Given the description of an element on the screen output the (x, y) to click on. 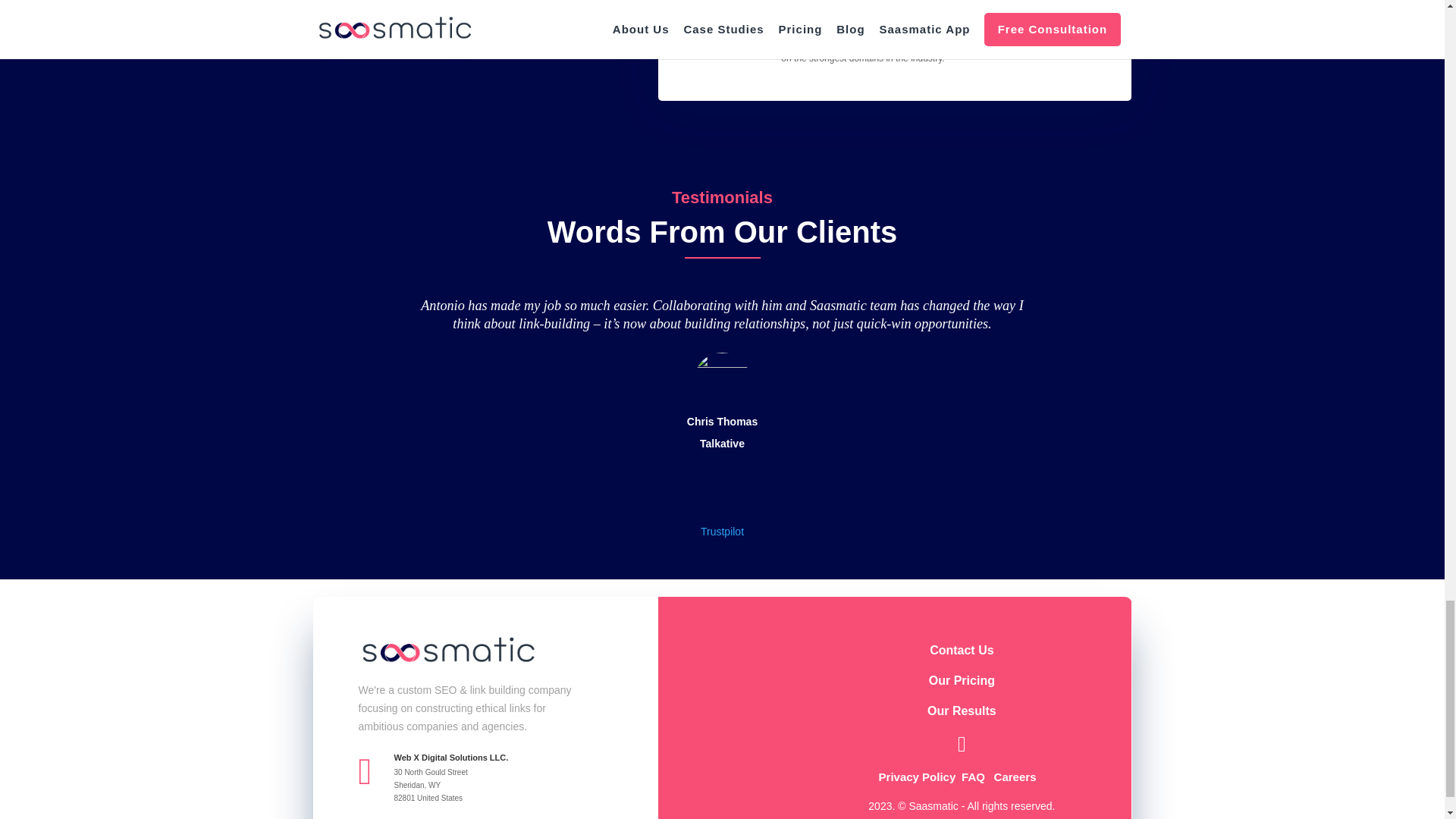
FAQ (972, 776)
plain logo v3 (447, 651)
Talkative (722, 443)
Privacy Policy (917, 776)
Careers (1015, 776)
Trustpilot (722, 531)
See More About Us (392, 10)
